Given the description of an element on the screen output the (x, y) to click on. 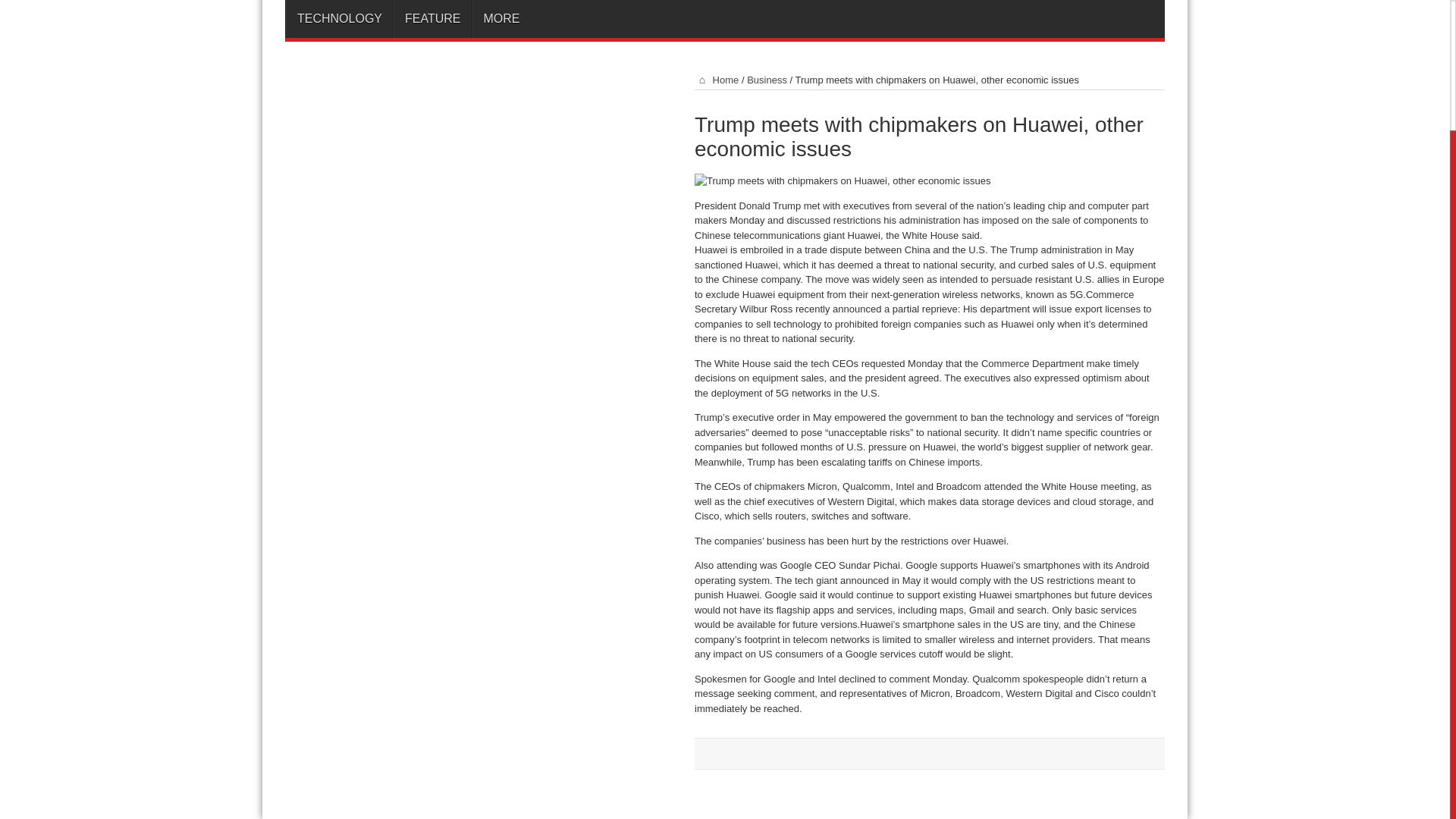
FEATURE (431, 18)
TECHNOLOGY (339, 18)
MORE (500, 18)
